Given the description of an element on the screen output the (x, y) to click on. 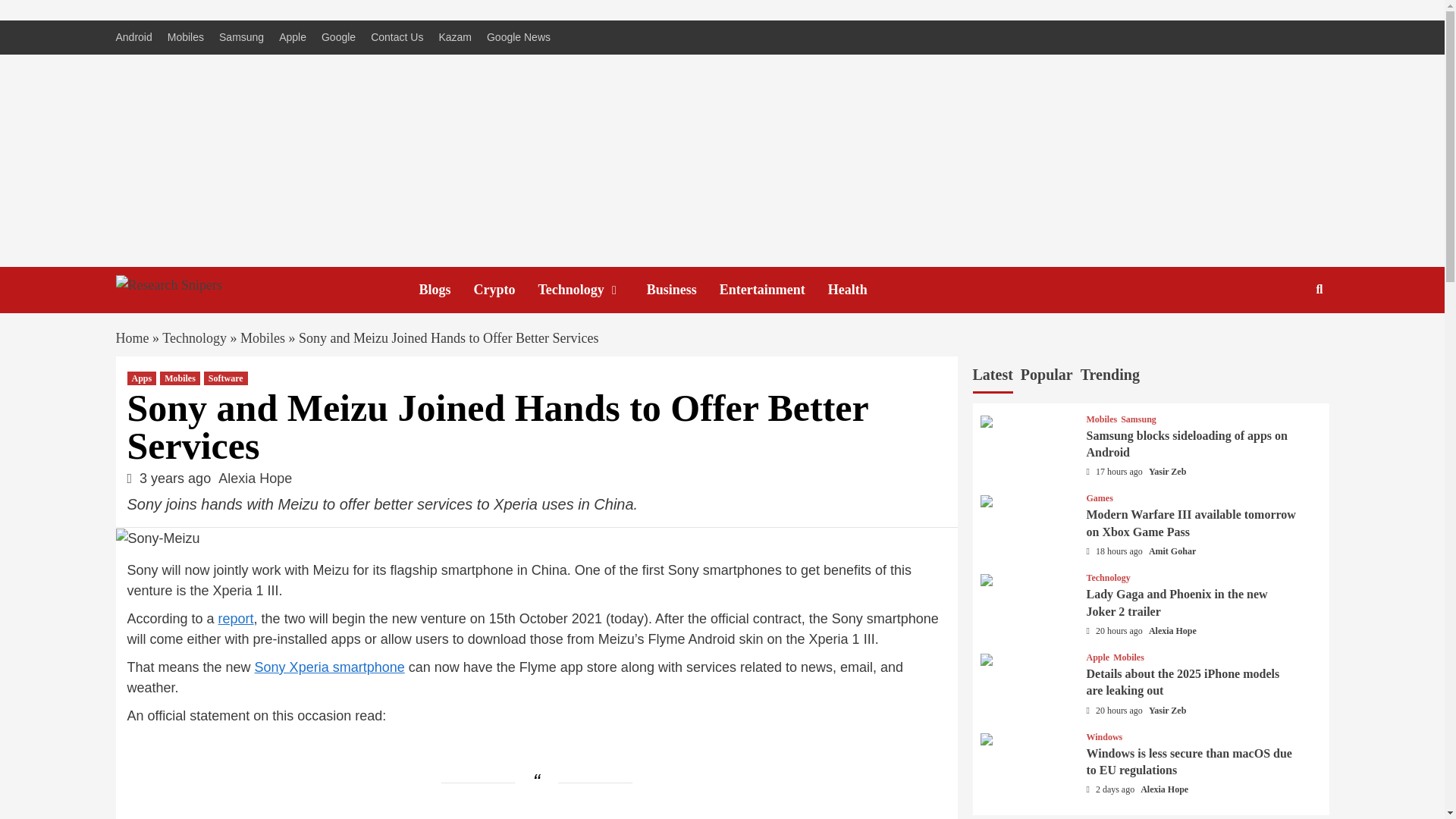
Android (136, 37)
report (235, 618)
Search (1319, 289)
Google (338, 37)
Apps (142, 377)
Mobiles (262, 337)
Health (858, 289)
Mobiles (180, 377)
Entertainment (773, 289)
Crypto (506, 289)
Mobiles (185, 37)
Technology (592, 289)
Sony Xperia smartphone (329, 667)
